Given the description of an element on the screen output the (x, y) to click on. 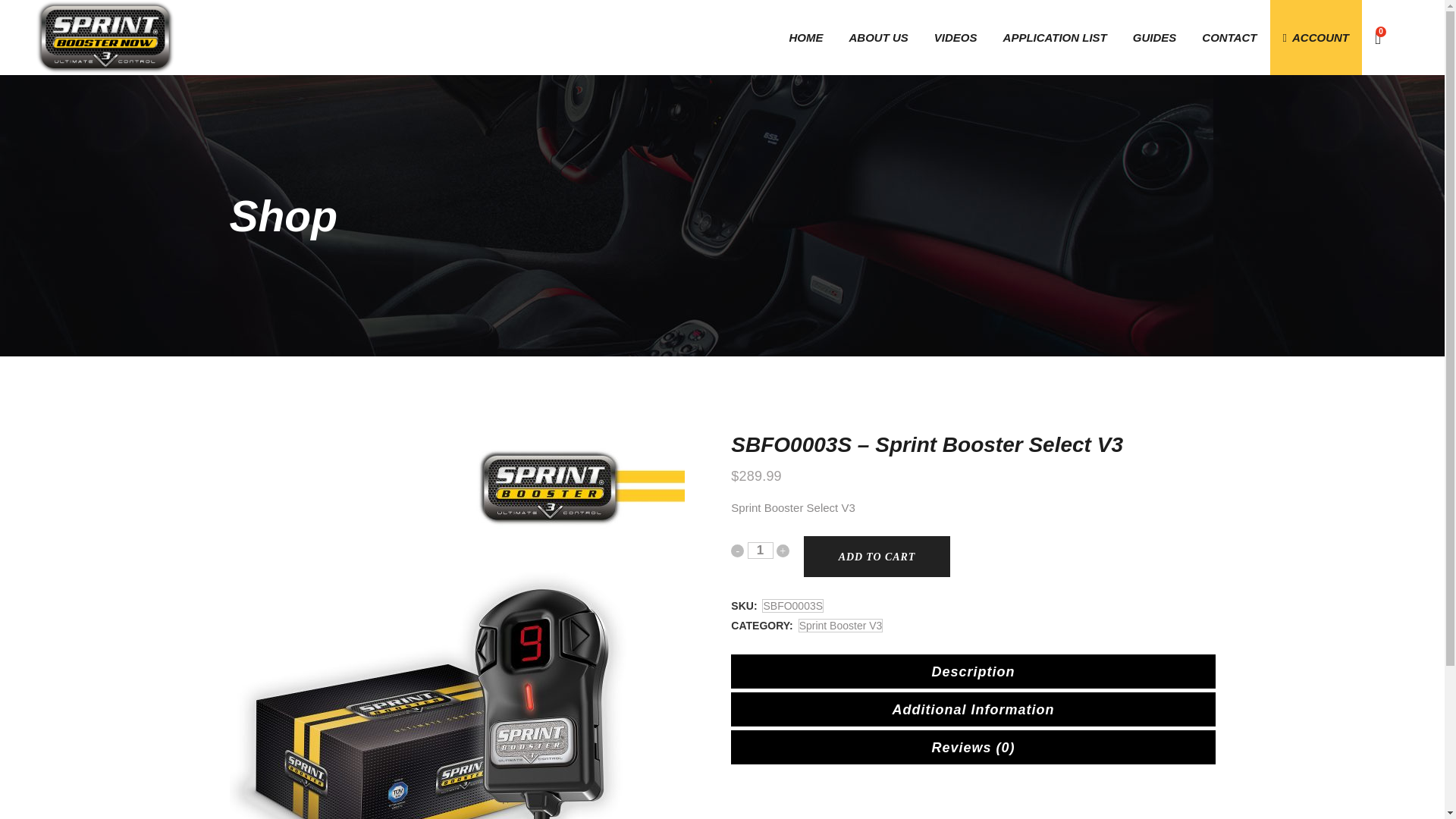
0 (1377, 38)
APPLICATION LIST (1054, 37)
- (737, 550)
GUIDES (1154, 37)
VIDEOS (955, 37)
ABOUT US (878, 37)
Sprint Booster V3 (840, 625)
ACCOUNT (1315, 37)
CONTACT (1229, 37)
ADD TO CART (876, 556)
HOME (805, 37)
Qty (760, 550)
1 (760, 550)
